Given the description of an element on the screen output the (x, y) to click on. 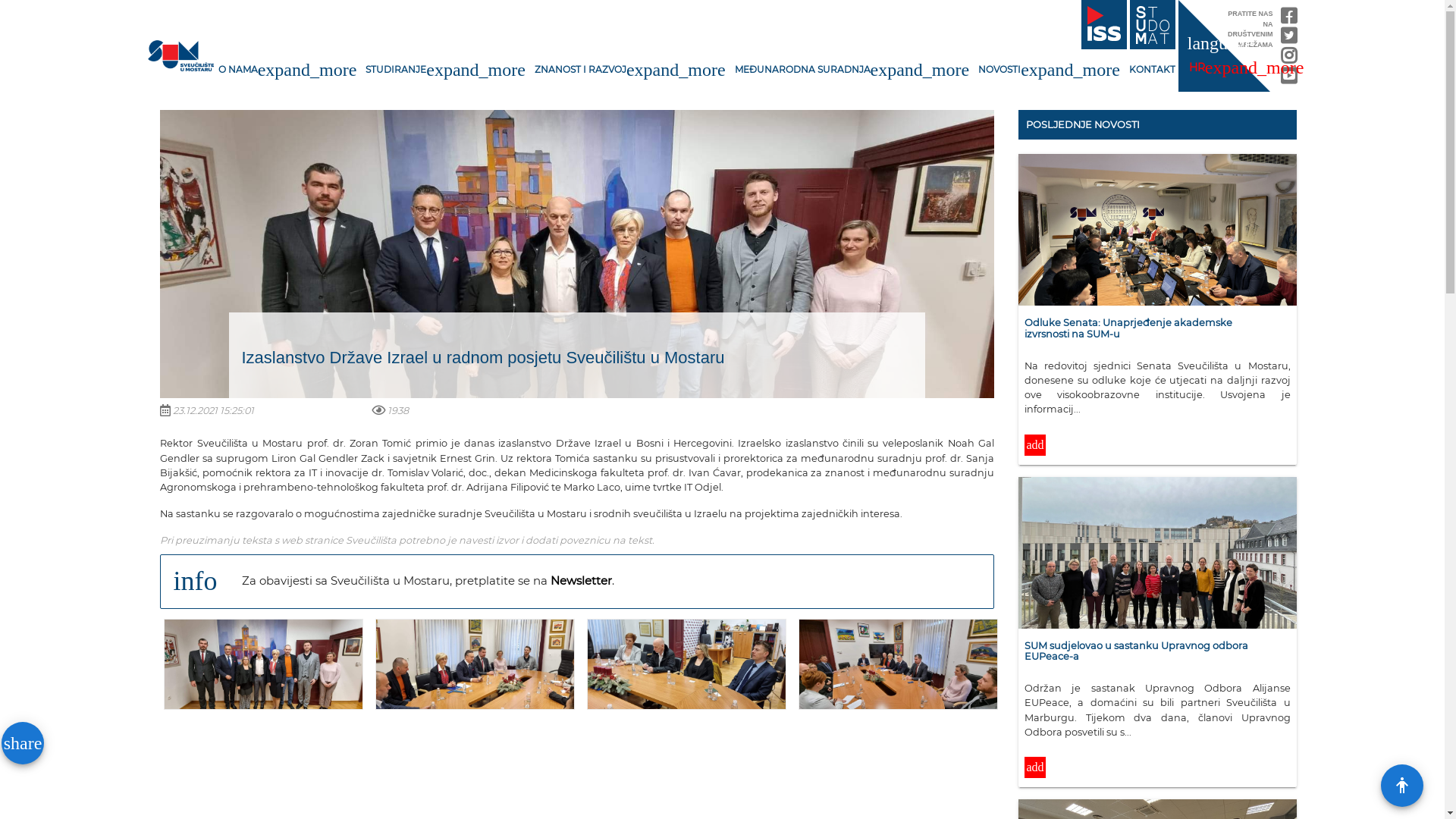
Studomat Element type: hover (1152, 24)
Newsletter Element type: text (580, 580)
Facebook - SUM Element type: hover (1288, 19)
add Element type: text (1034, 772)
Instagram - SUM Element type: hover (1288, 58)
Twitter - SUM Element type: hover (1288, 38)
SUM sudjelovao u sastanku Upravnog odbora EUPeace-a Element type: text (1157, 652)
add Element type: text (1034, 767)
add Element type: text (1034, 449)
KONTAKT Element type: text (1152, 69)
Youtube - SUM Element type: hover (1288, 78)
add Element type: text (1034, 445)
share Element type: text (22, 742)
